Given the description of an element on the screen output the (x, y) to click on. 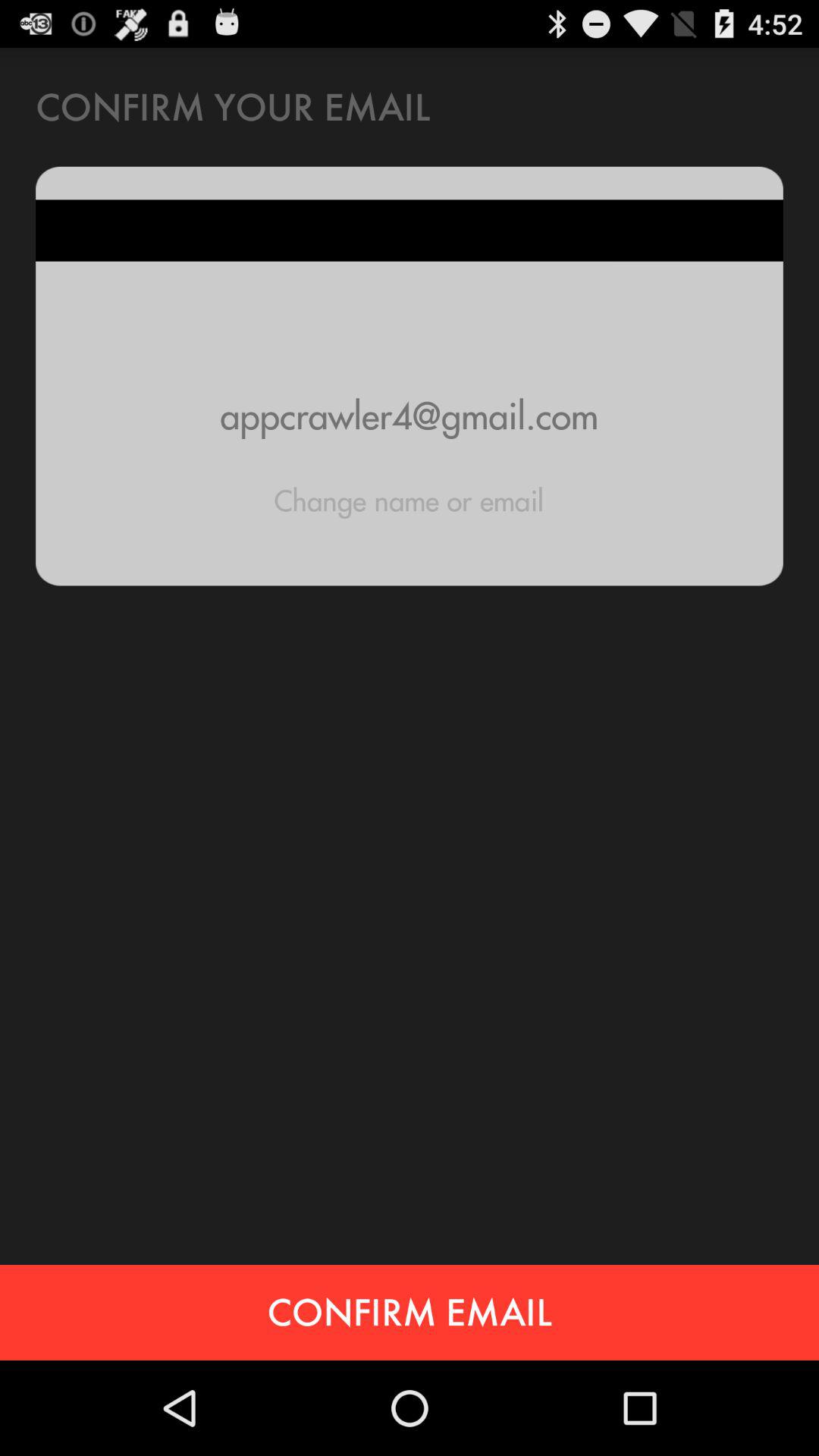
open the icon below the appcrawler4@gmail.com (409, 500)
